Given the description of an element on the screen output the (x, y) to click on. 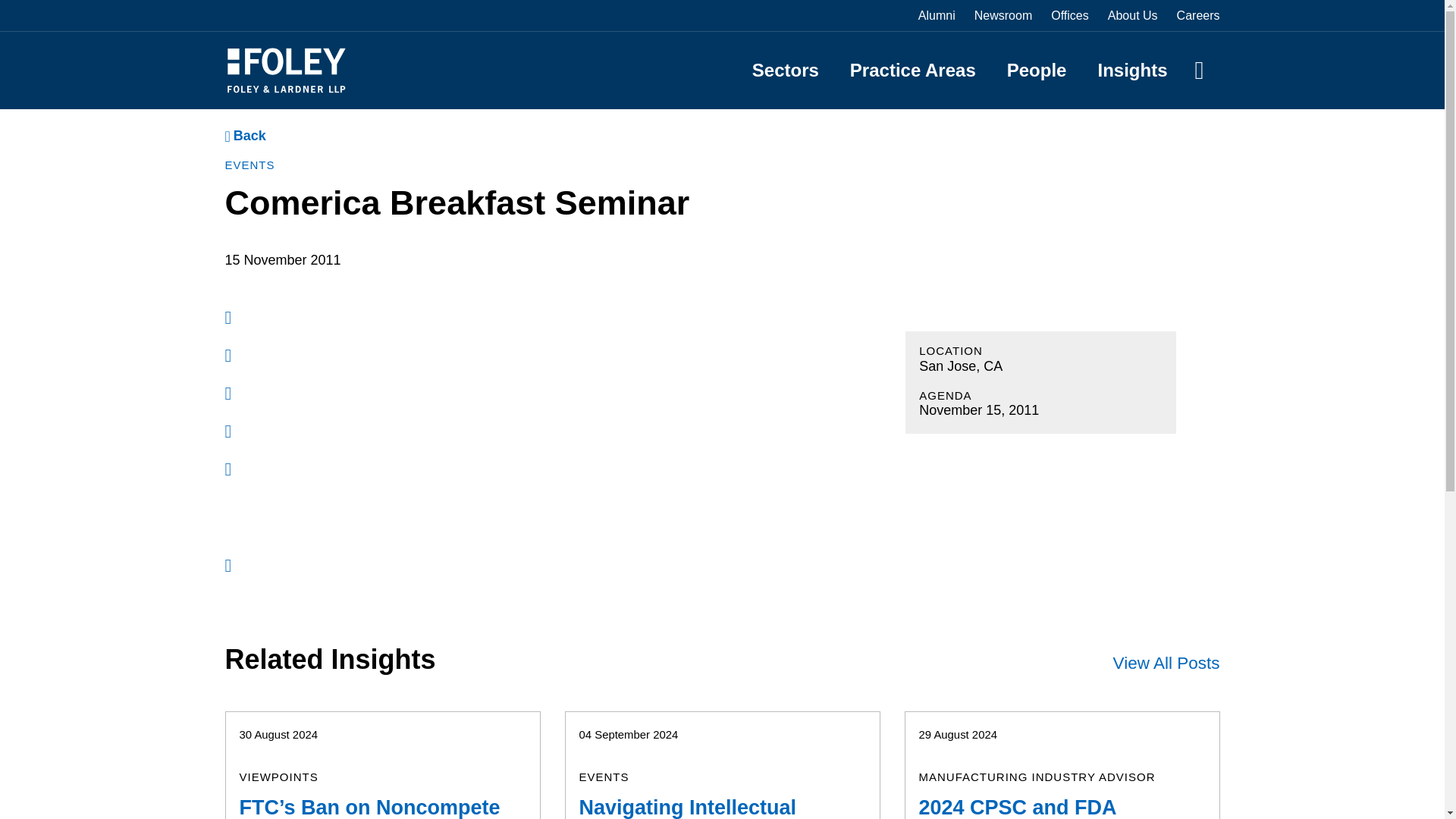
Alumni (936, 15)
About Us (1132, 15)
People (1037, 70)
Newsroom (1003, 15)
Sectors (785, 70)
Insights (1132, 70)
Careers (1198, 15)
Practice Areas (912, 70)
View All Posts (1166, 662)
